Given the description of an element on the screen output the (x, y) to click on. 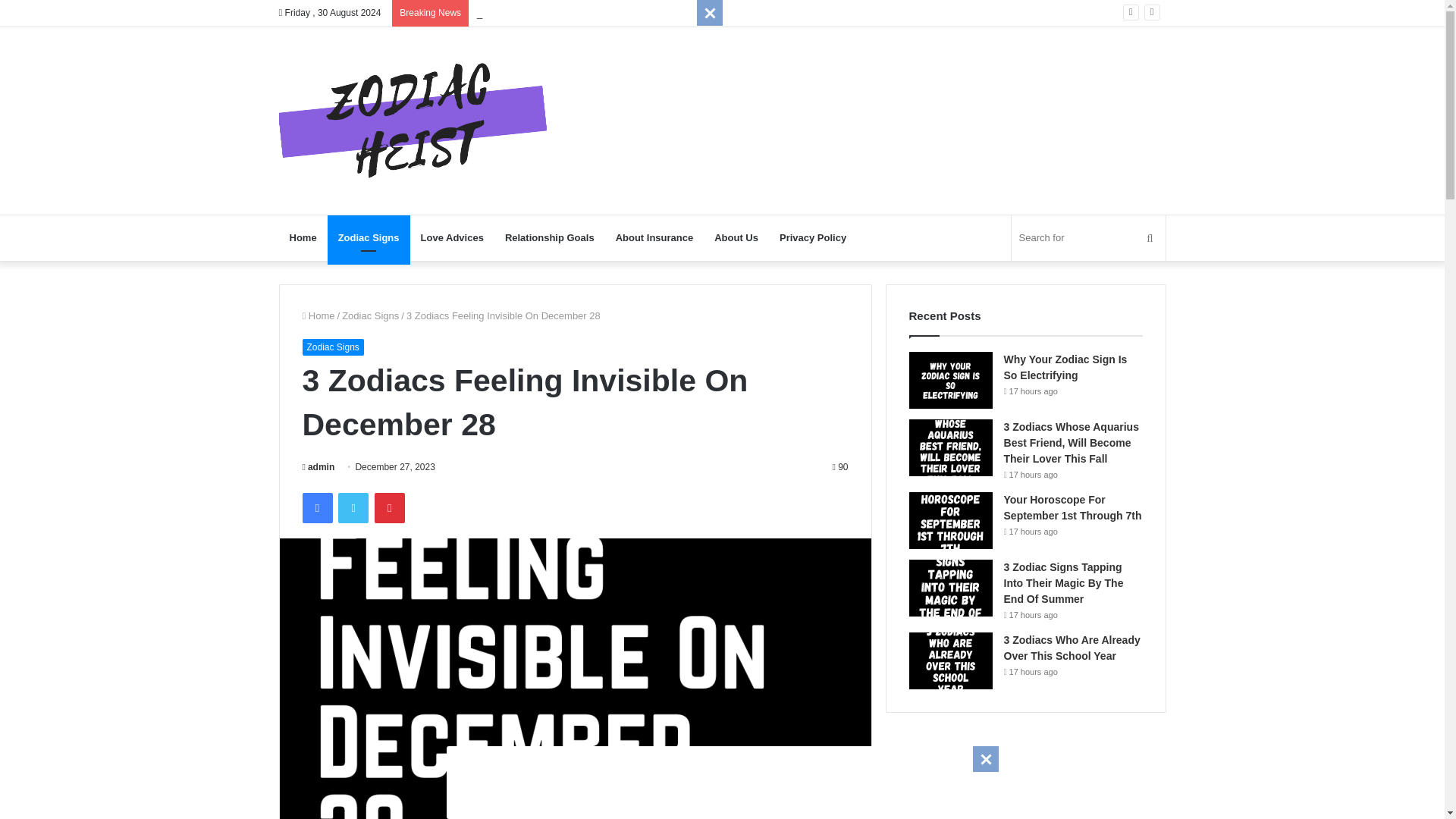
About Us (735, 238)
Twitter (352, 508)
Home (303, 238)
Twitter (352, 508)
Privacy Policy (812, 238)
admin (317, 466)
Zodiac Heist (414, 120)
Love Advices (452, 238)
Search for (1088, 238)
